Given the description of an element on the screen output the (x, y) to click on. 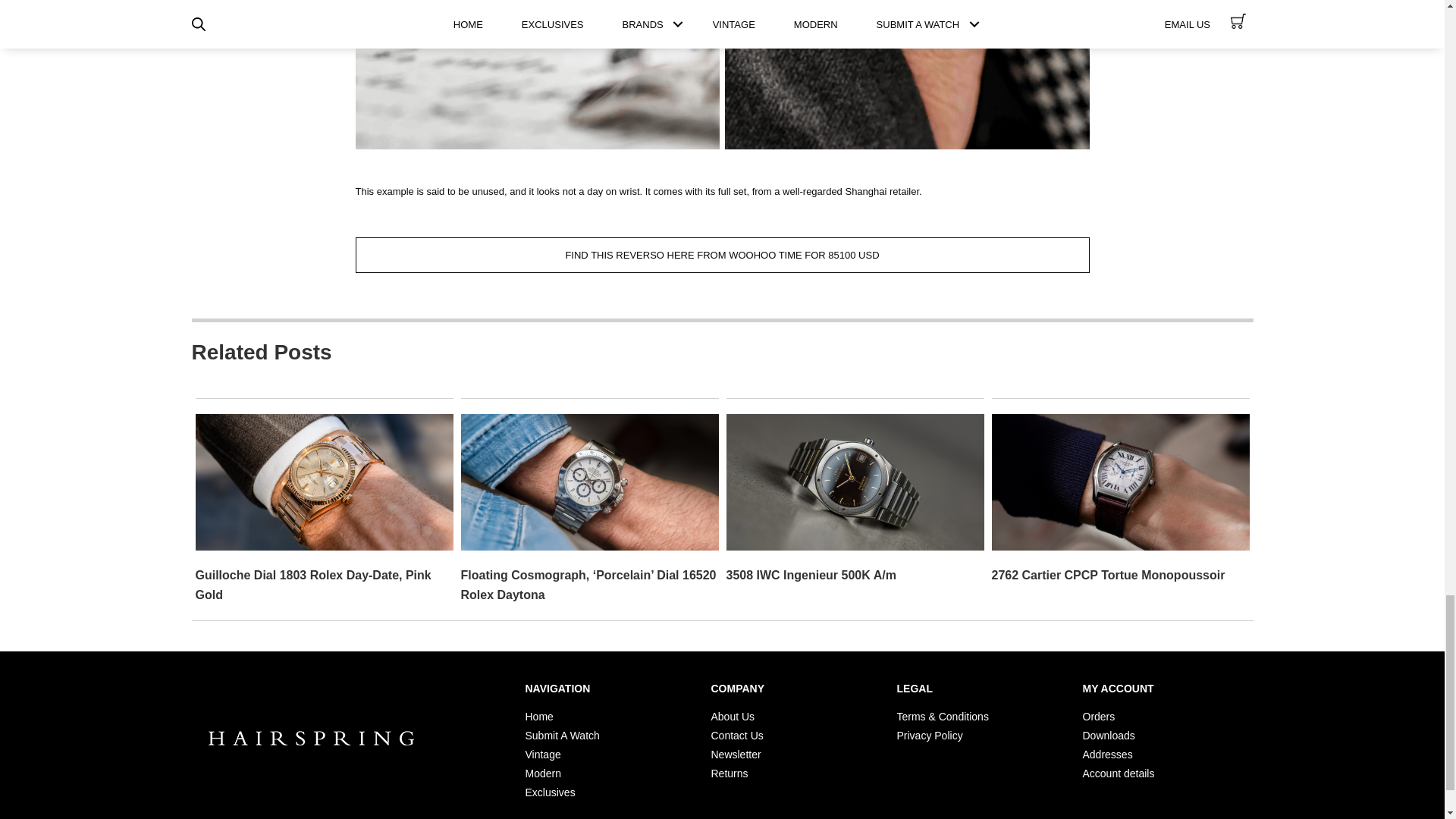
Guilloche Dial 1803 Rolex Day-Date, Pink Gold (323, 480)
Guilloche Dial 1803 Rolex Day-Date, Pink Gold (312, 584)
Hairspring-Footer (310, 738)
2762 Cartier CPCP Tortue Monopoussoir (1108, 574)
2762 Cartier CPCP Tortue Monopoussoir (1120, 480)
